Given the description of an element on the screen output the (x, y) to click on. 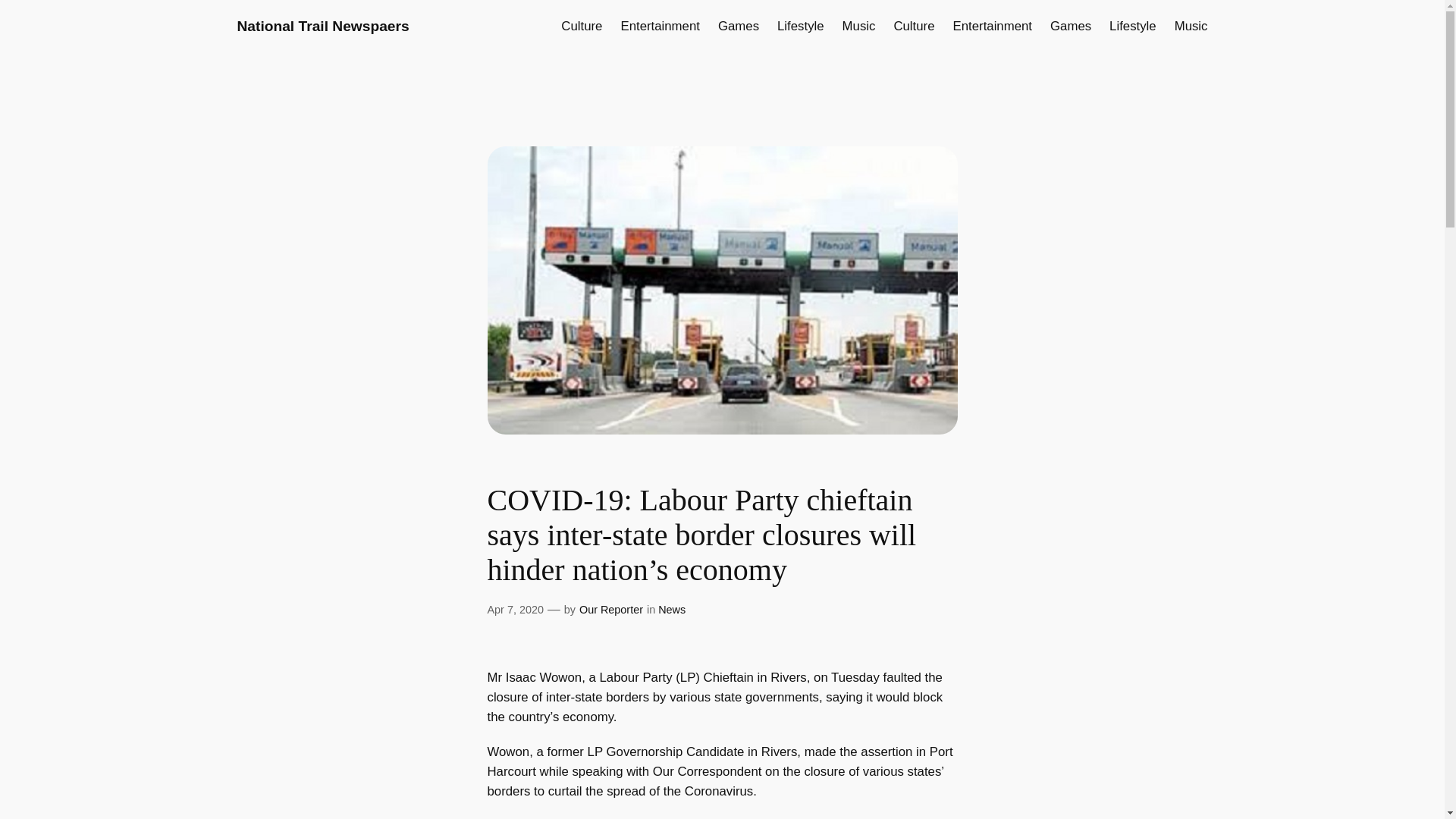
Our Reporter (611, 609)
News (671, 609)
Music (1191, 26)
Music (859, 26)
Lifestyle (1132, 26)
Games (737, 26)
National Trail Newspaers (322, 26)
Entertainment (659, 26)
Culture (581, 26)
Culture (913, 26)
